Given the description of an element on the screen output the (x, y) to click on. 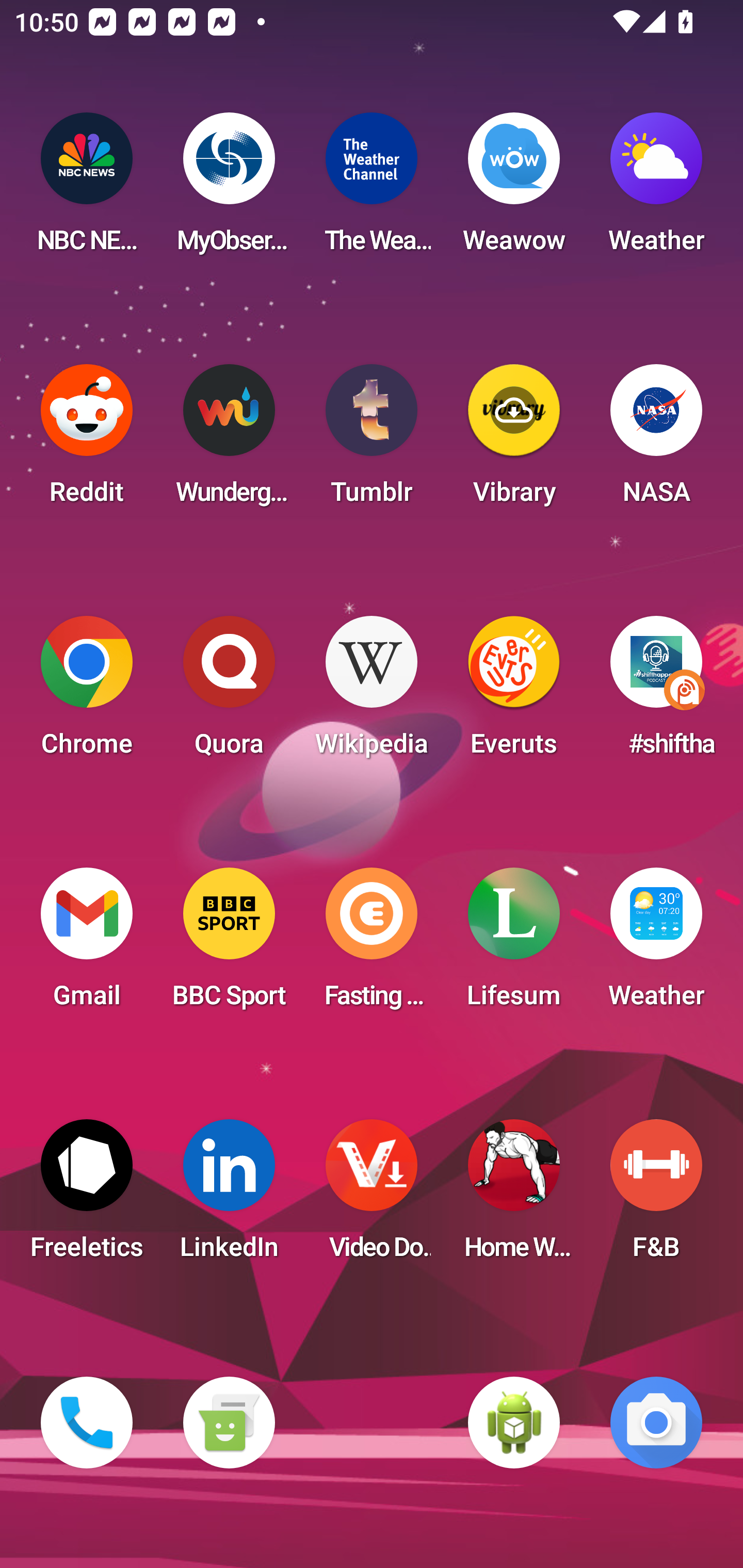
NBC NEWS (86, 188)
MyObservatory (228, 188)
The Weather Channel (371, 188)
Weawow (513, 188)
Weather (656, 188)
Reddit (86, 440)
Wunderground (228, 440)
Tumblr (371, 440)
Vibrary (513, 440)
NASA (656, 440)
Chrome (86, 692)
Quora (228, 692)
Wikipedia (371, 692)
Everuts (513, 692)
#shifthappens in the Digital Workplace Podcast (656, 692)
Gmail (86, 943)
BBC Sport (228, 943)
Fasting Coach (371, 943)
Lifesum (513, 943)
Weather (656, 943)
Freeletics (86, 1195)
LinkedIn (228, 1195)
Video Downloader & Ace Player (371, 1195)
Home Workout (513, 1195)
F&B (656, 1195)
Phone (86, 1422)
Messaging (228, 1422)
WebView Browser Tester (513, 1422)
Camera (656, 1422)
